Given the description of an element on the screen output the (x, y) to click on. 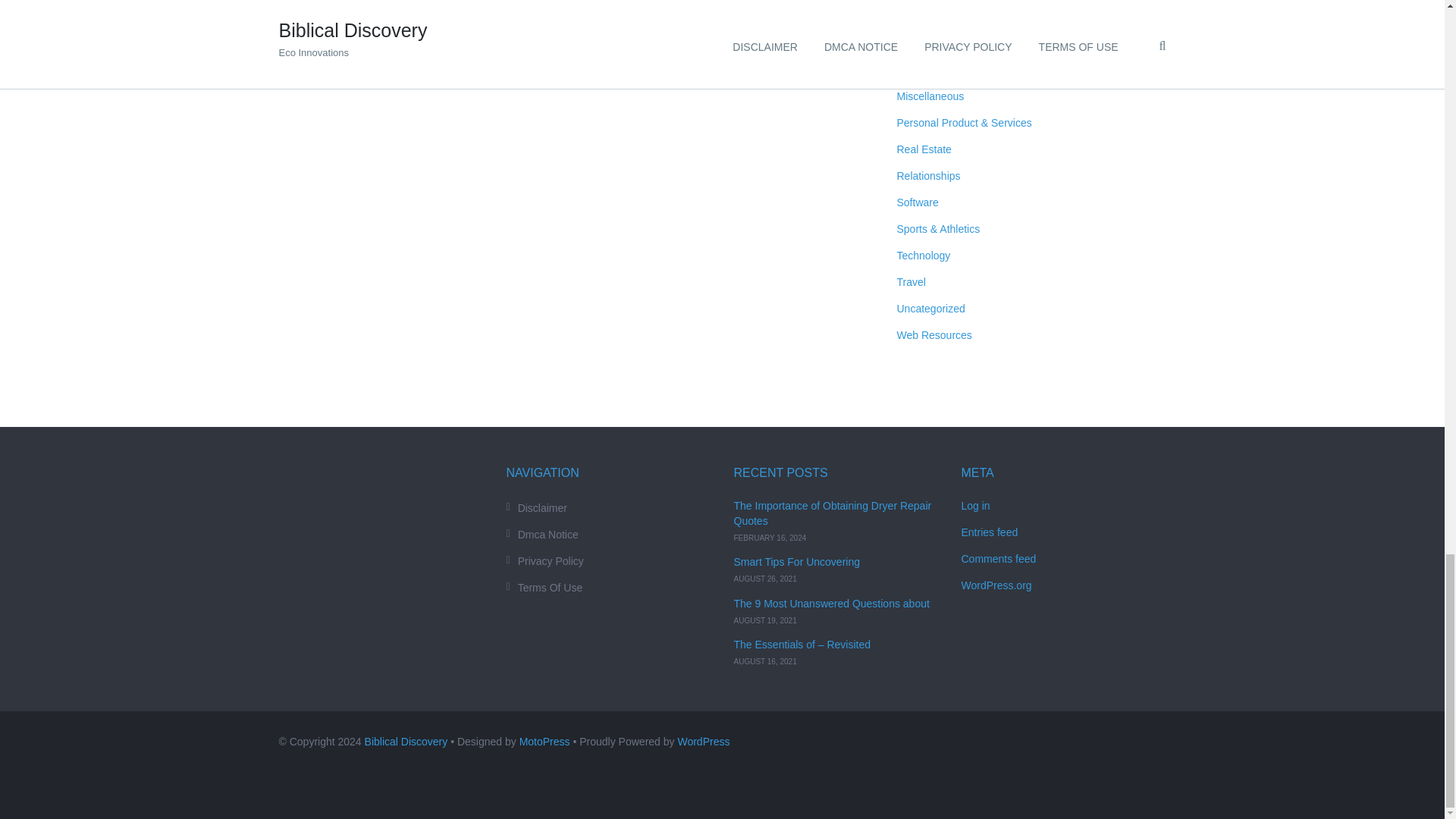
Semantic Personal Publishing Platform (703, 741)
Premium WordPress Plugins and Themes (544, 741)
Biblical Discovery (406, 741)
